Given the description of an element on the screen output the (x, y) to click on. 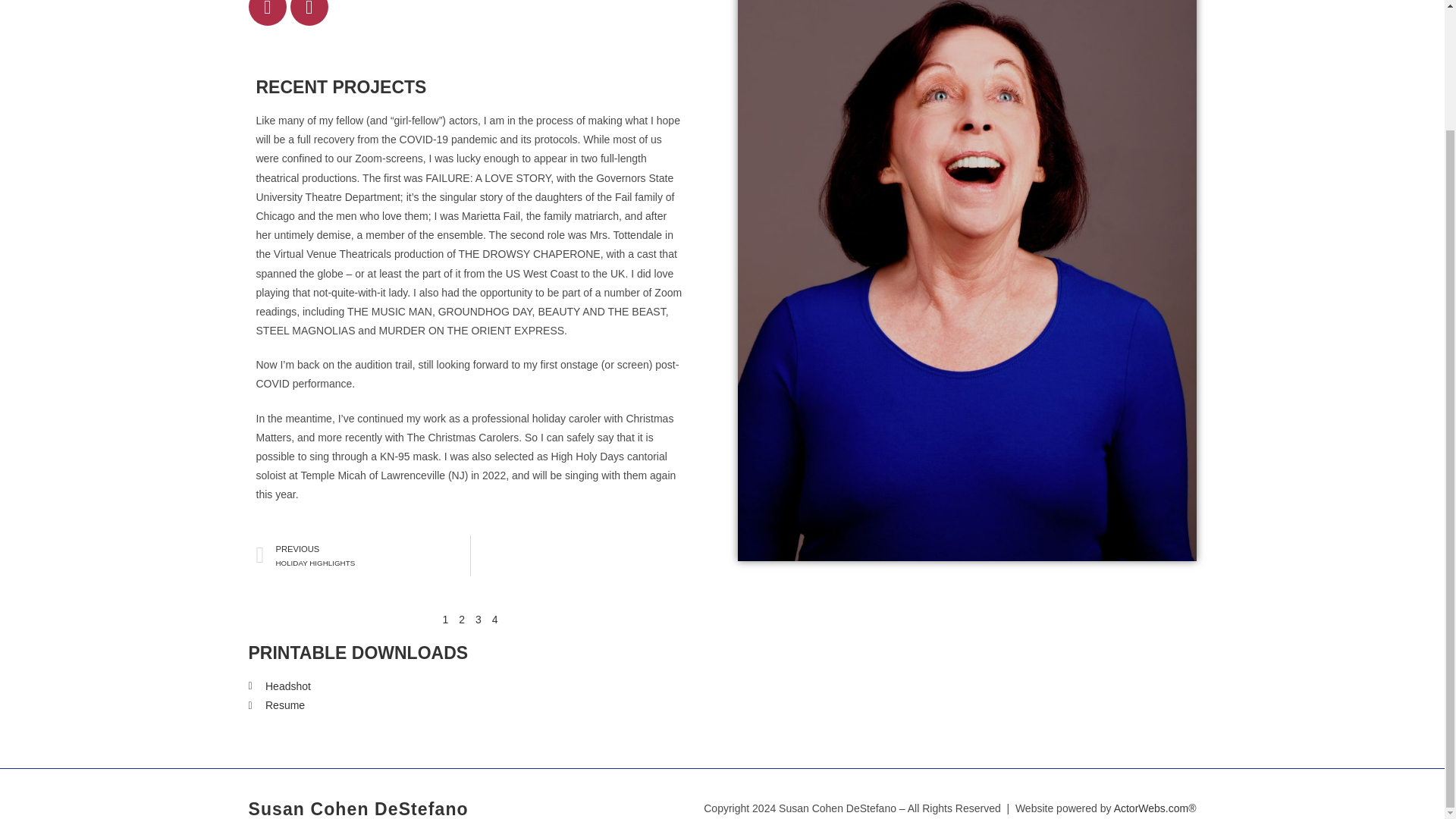
Headshot (470, 686)
Resume (363, 555)
